Given the description of an element on the screen output the (x, y) to click on. 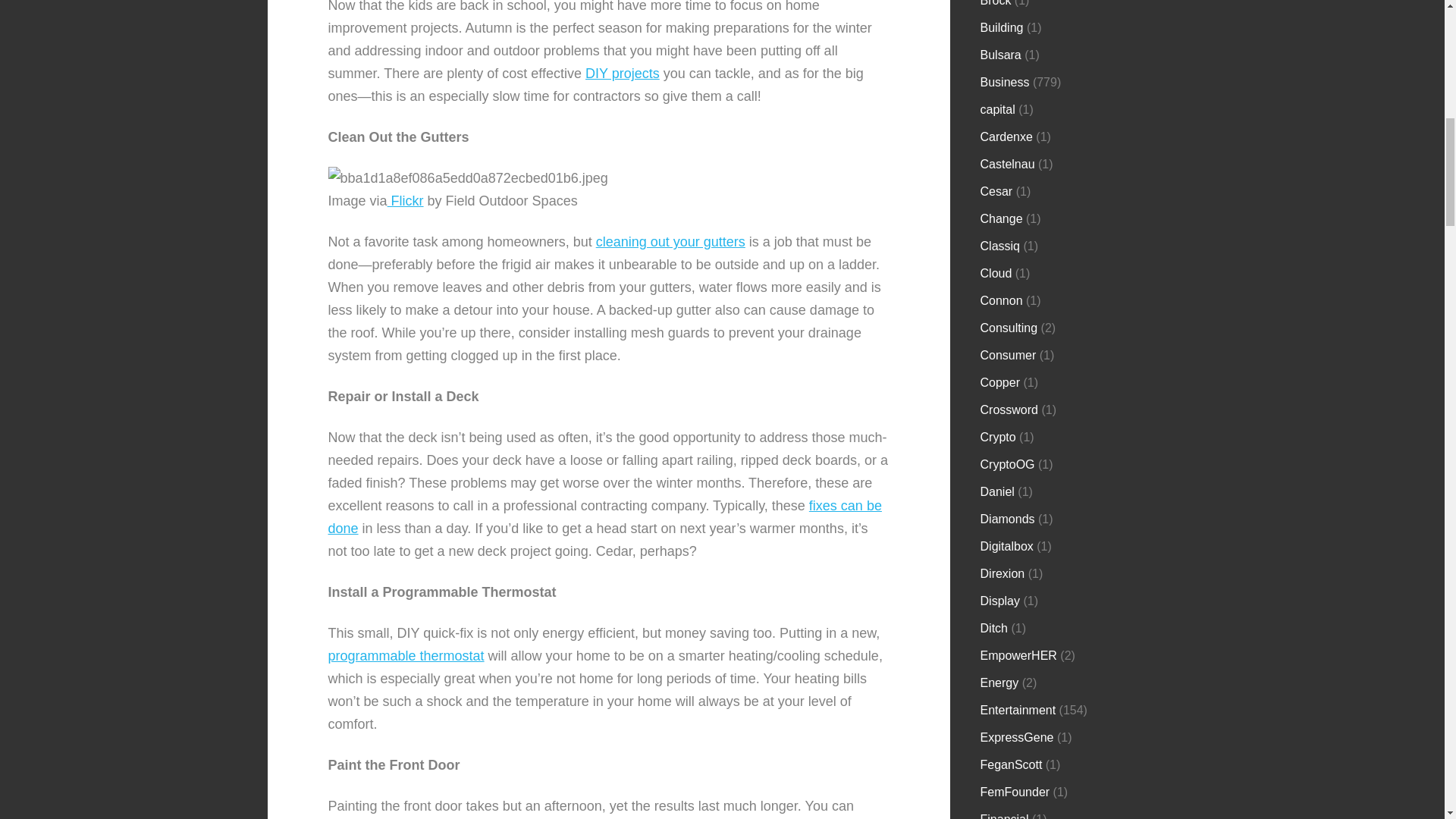
programmable thermostat (405, 655)
cleaning out your gutters (670, 241)
DIY projects (622, 73)
fixes can be done (603, 516)
 Flickr (405, 200)
